Given the description of an element on the screen output the (x, y) to click on. 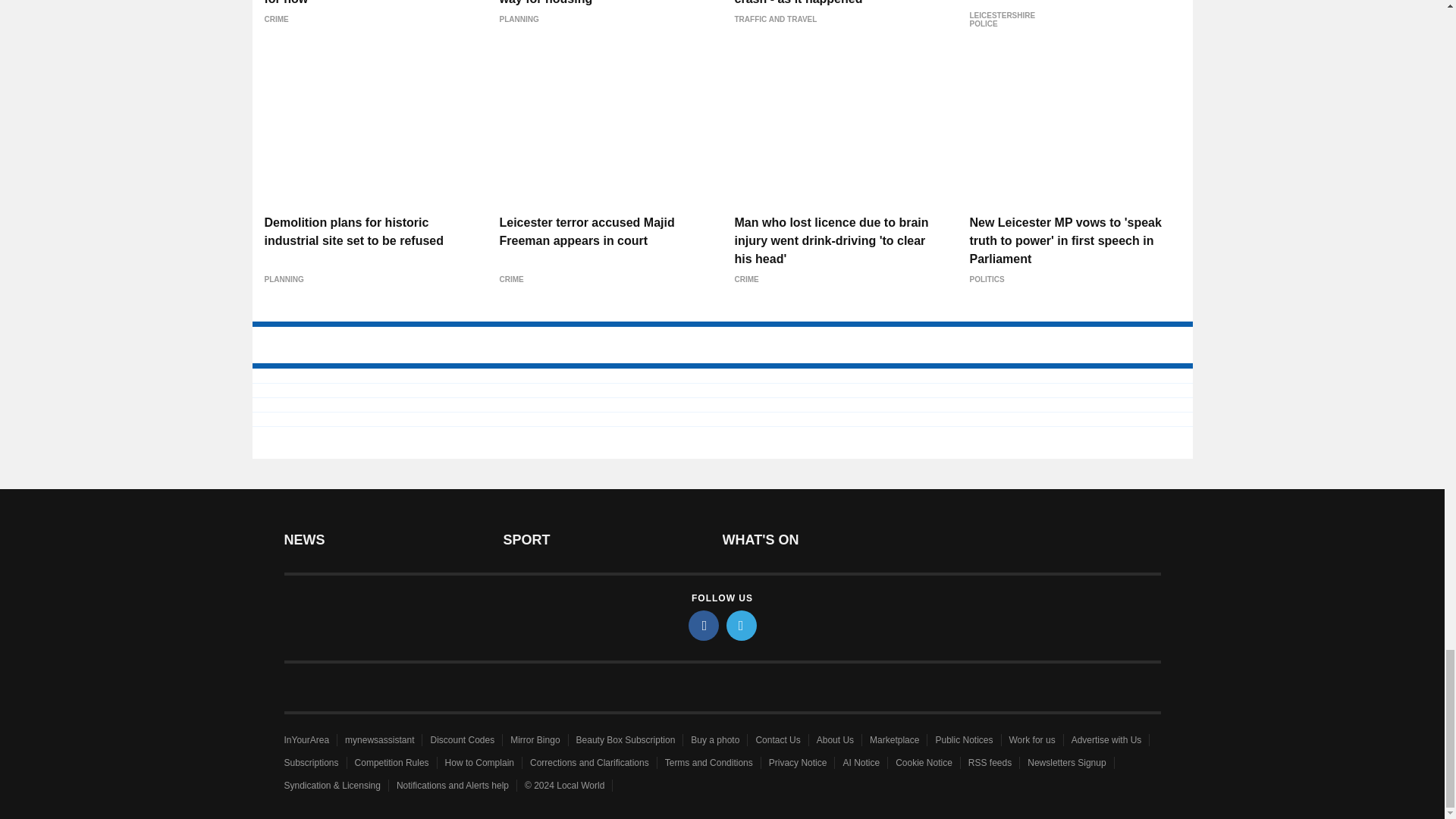
twitter (741, 625)
facebook (703, 625)
